Given the description of an element on the screen output the (x, y) to click on. 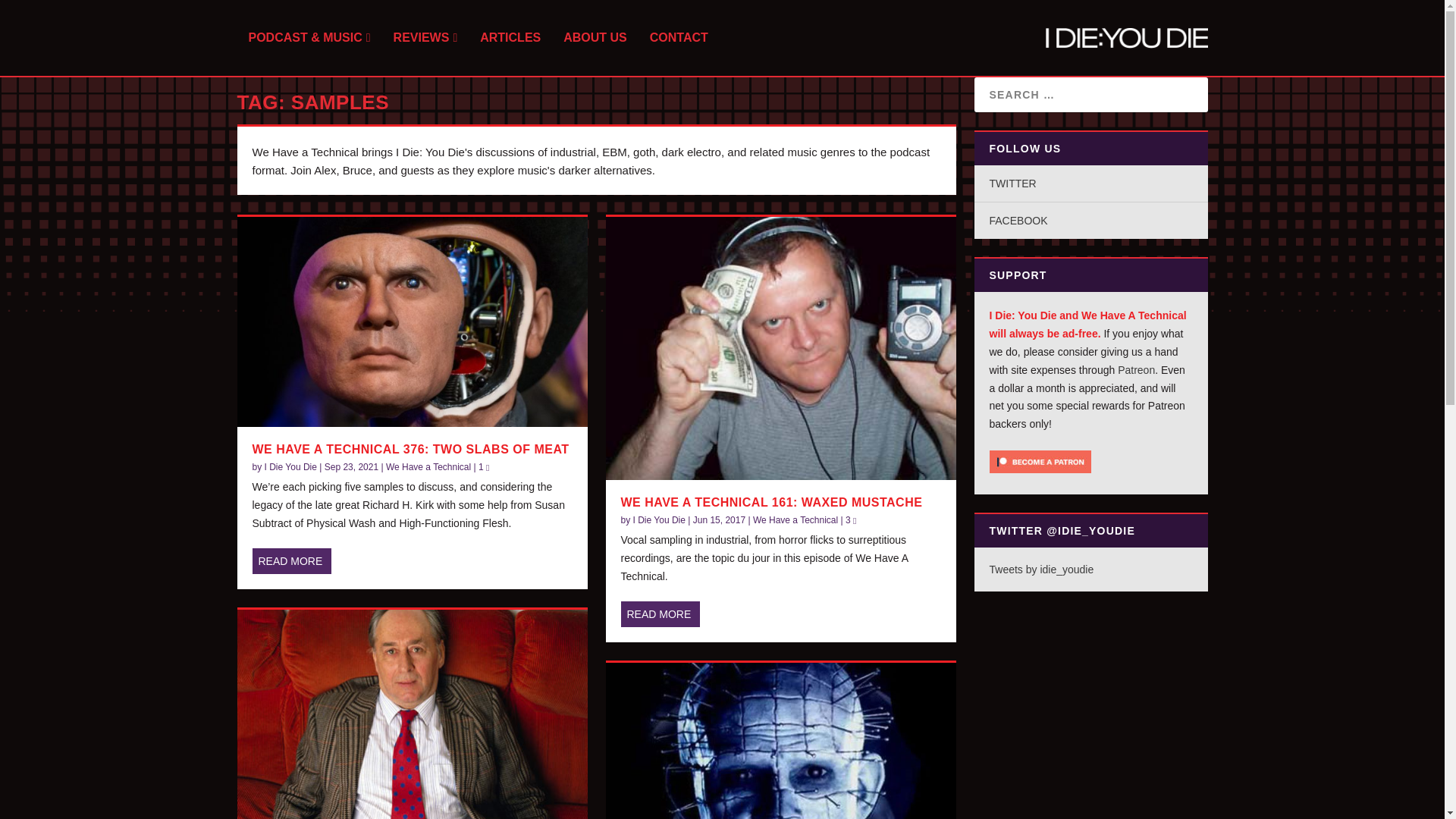
I Die You Die (290, 466)
Posts by I Die You Die (290, 466)
We Have a Technical (427, 466)
1 (484, 466)
ARTICLES (510, 53)
READ MORE (291, 560)
REVIEWS (425, 53)
We Have A Technical 376: Two Slabs Of Meat (410, 321)
We Have a Technical 161: Waxed Mustache (780, 348)
CONTACT (678, 53)
ABOUT US (595, 53)
Posts by I Die You Die (659, 520)
WE HAVE A TECHNICAL 376: TWO SLABS OF MEAT (410, 449)
